Given the description of an element on the screen output the (x, y) to click on. 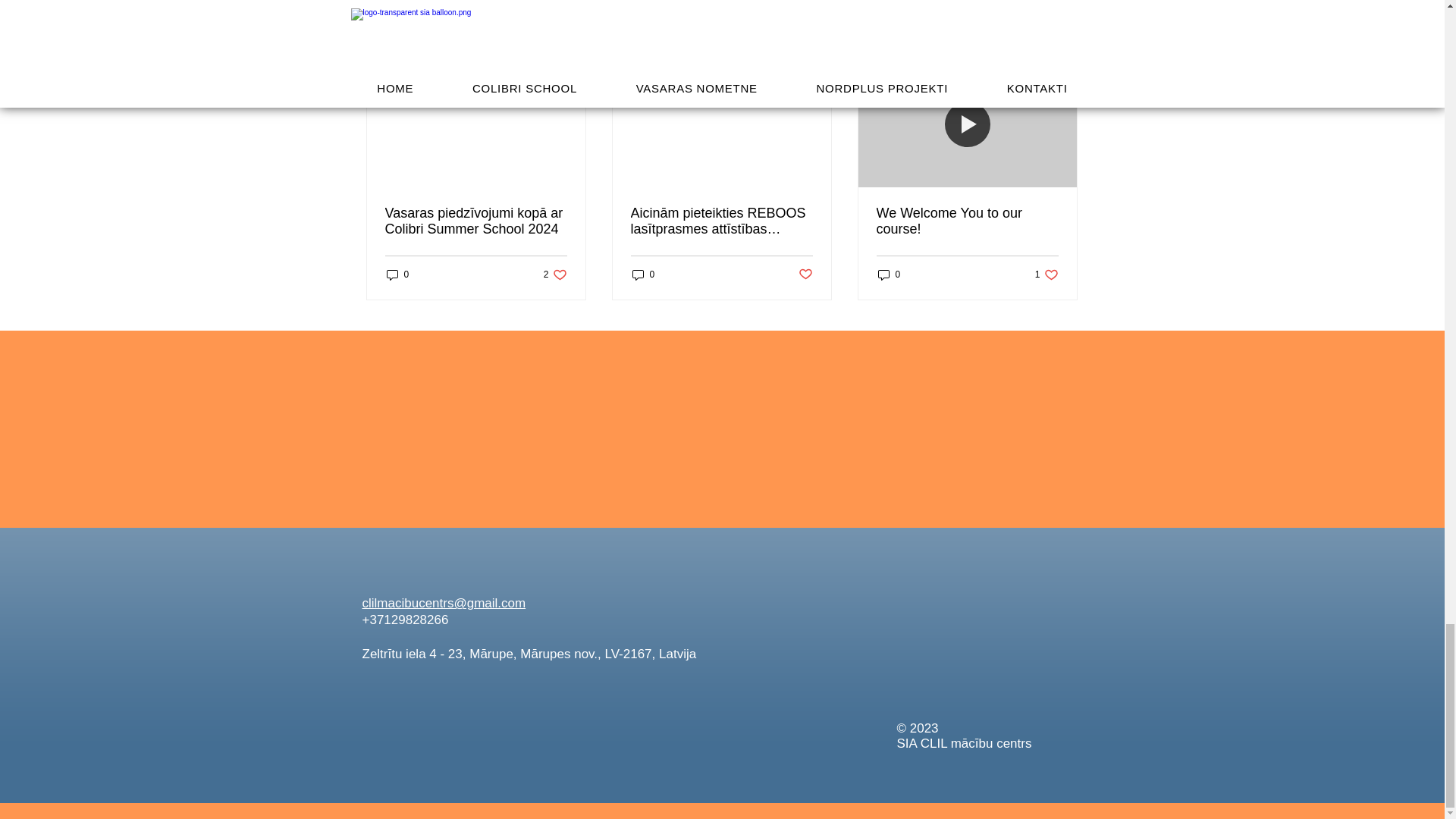
We Welcome You to our course! (967, 221)
0 (397, 274)
0 (643, 274)
0 (555, 274)
Post not marked as liked (1046, 274)
See All (889, 274)
